Given the description of an element on the screen output the (x, y) to click on. 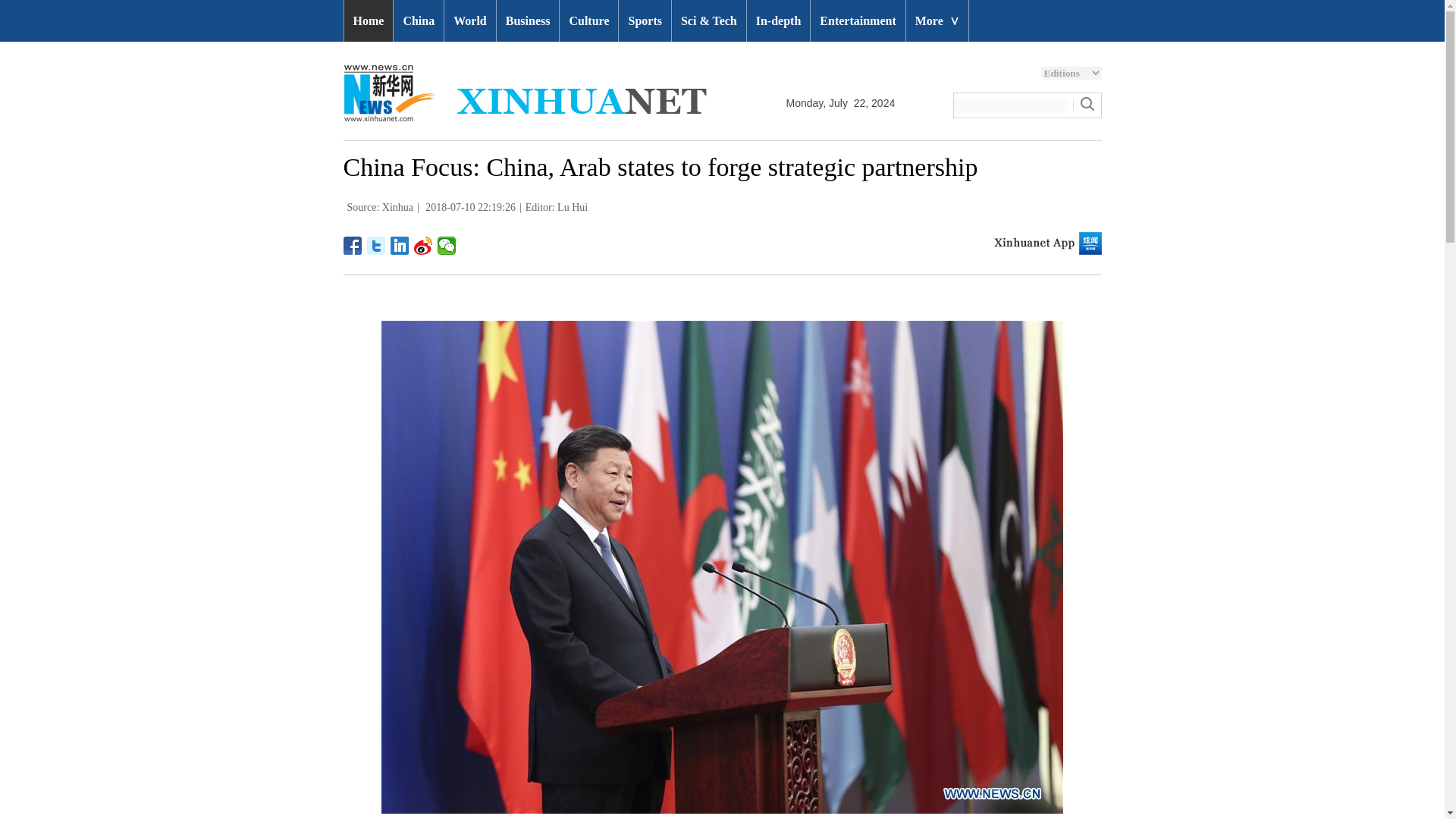
Culture (588, 20)
Business (527, 20)
World (470, 20)
Sports (643, 20)
Entertainment (857, 20)
China (418, 20)
In-depth (778, 20)
Home (368, 20)
